Given the description of an element on the screen output the (x, y) to click on. 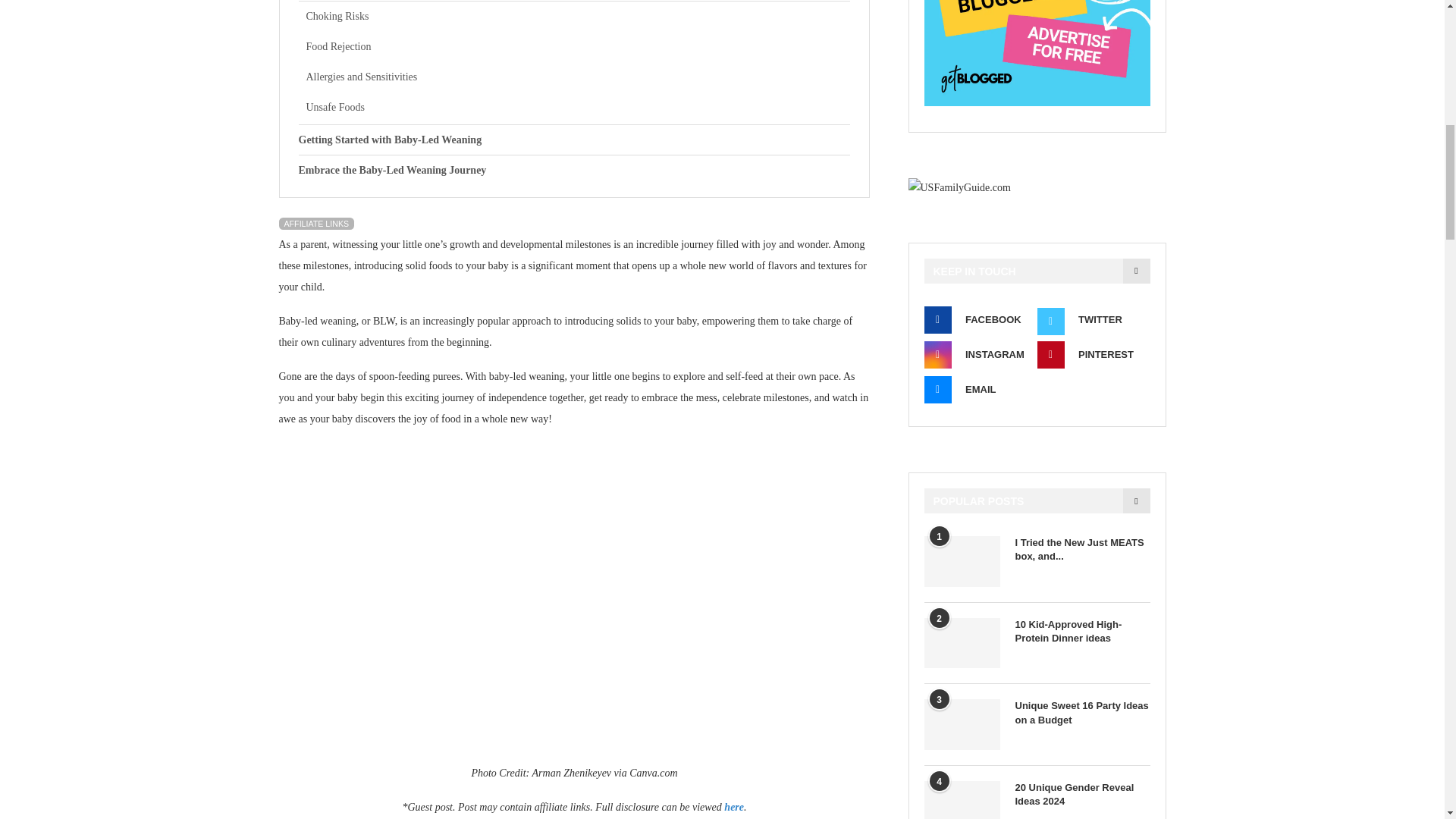
Choking Risks (577, 16)
Food Rejection (577, 46)
Getting Started with Baby-Led Weaning (574, 140)
Allergies and Sensitivities (577, 77)
Unsafe Foods (577, 107)
